Given the description of an element on the screen output the (x, y) to click on. 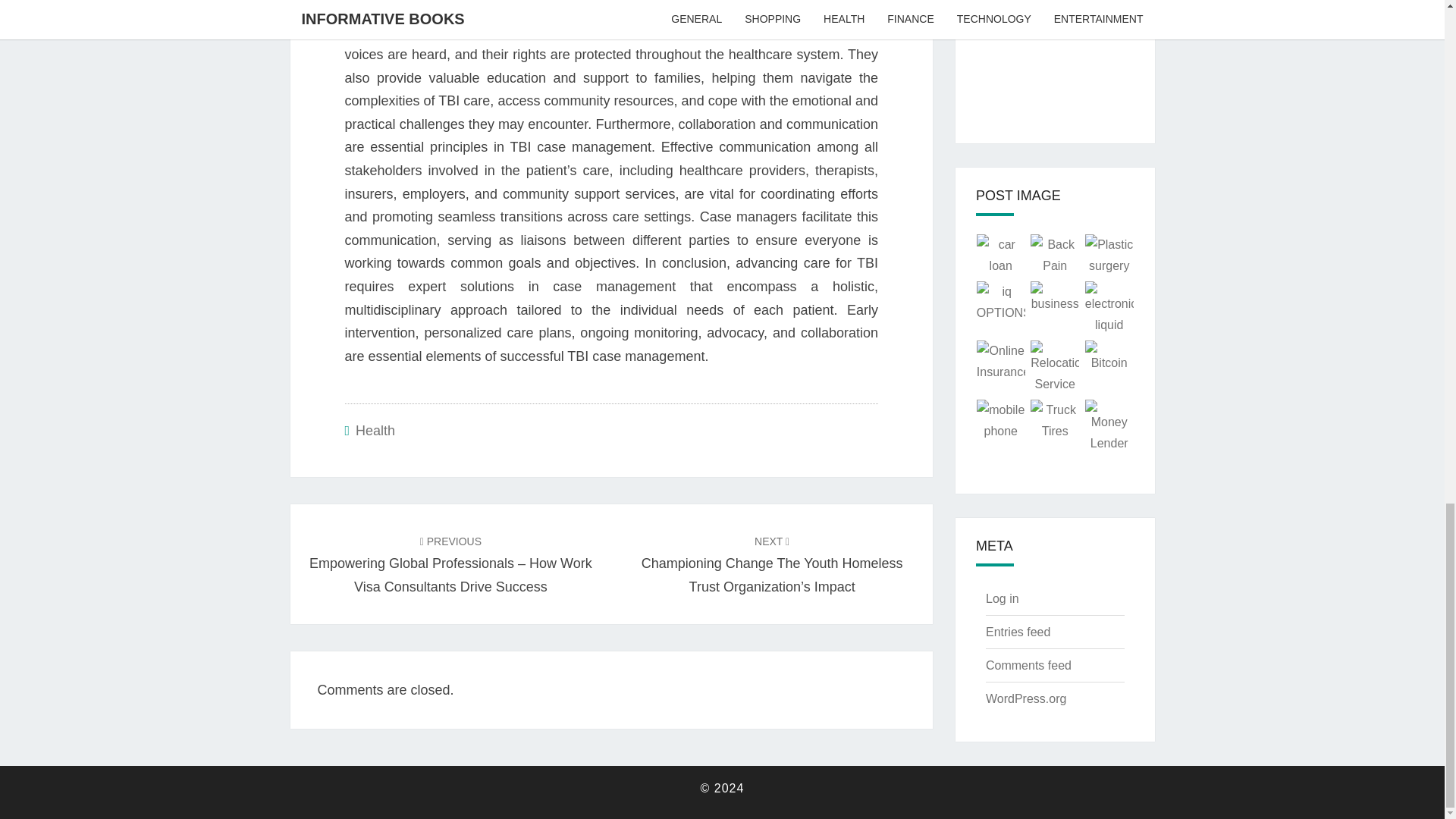
Log in (1002, 598)
Comments feed (1028, 665)
Health (374, 430)
ocat in dallas texas (663, 30)
Entries feed (1017, 631)
WordPress.org (1025, 698)
